Given the description of an element on the screen output the (x, y) to click on. 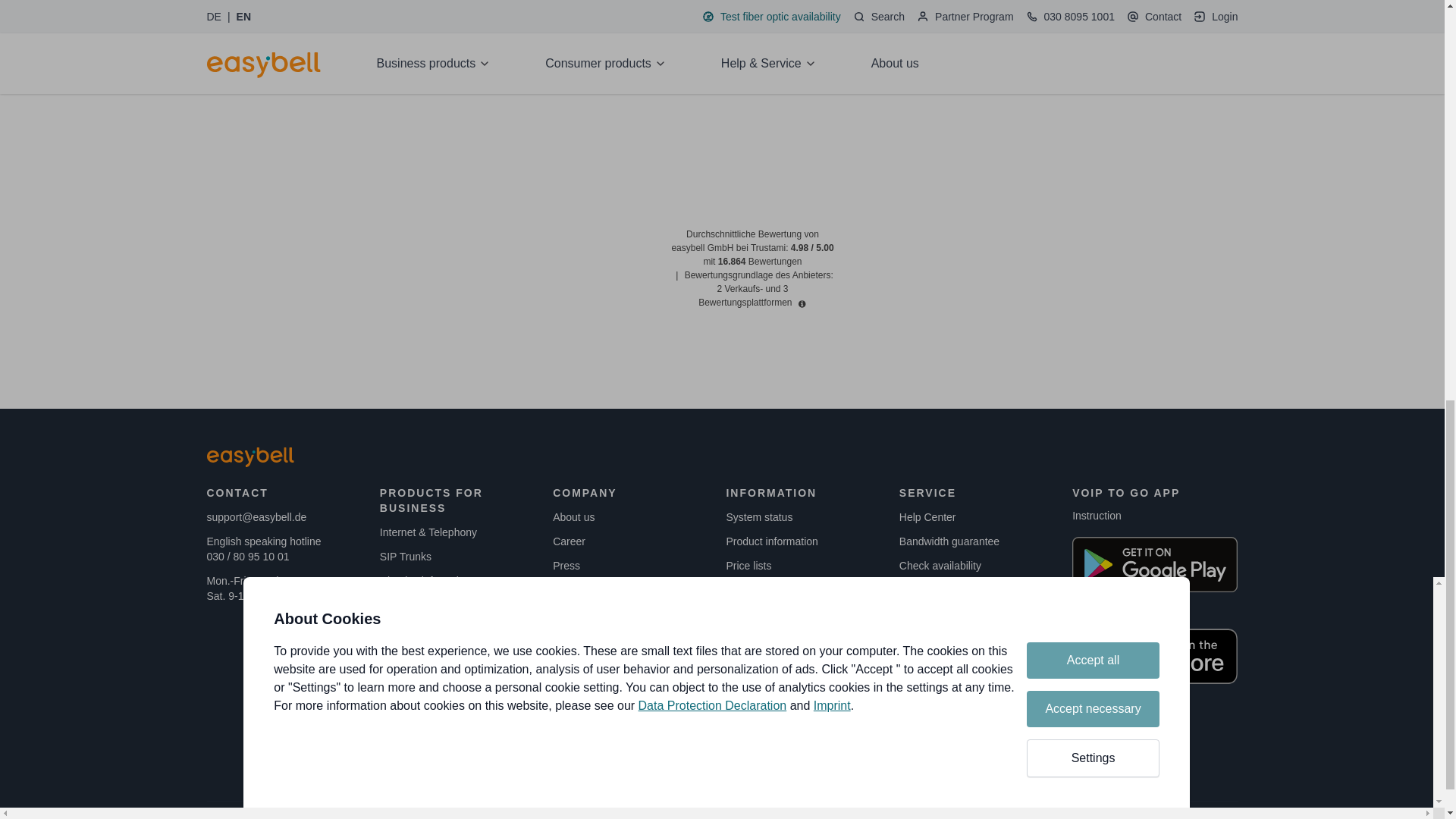
Trustami (759, 164)
